Given the description of an element on the screen output the (x, y) to click on. 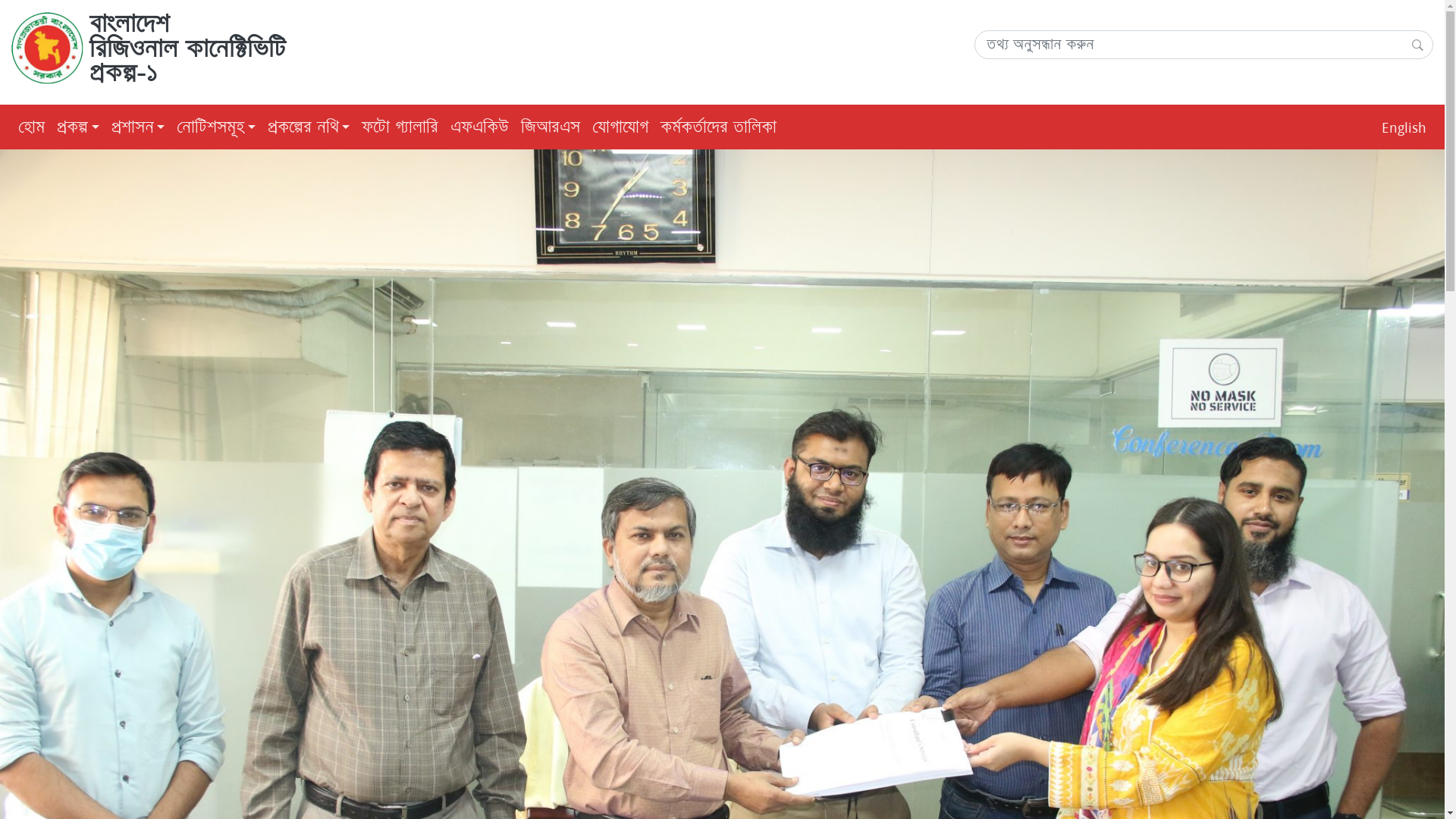
English Element type: text (1403, 126)
